Given the description of an element on the screen output the (x, y) to click on. 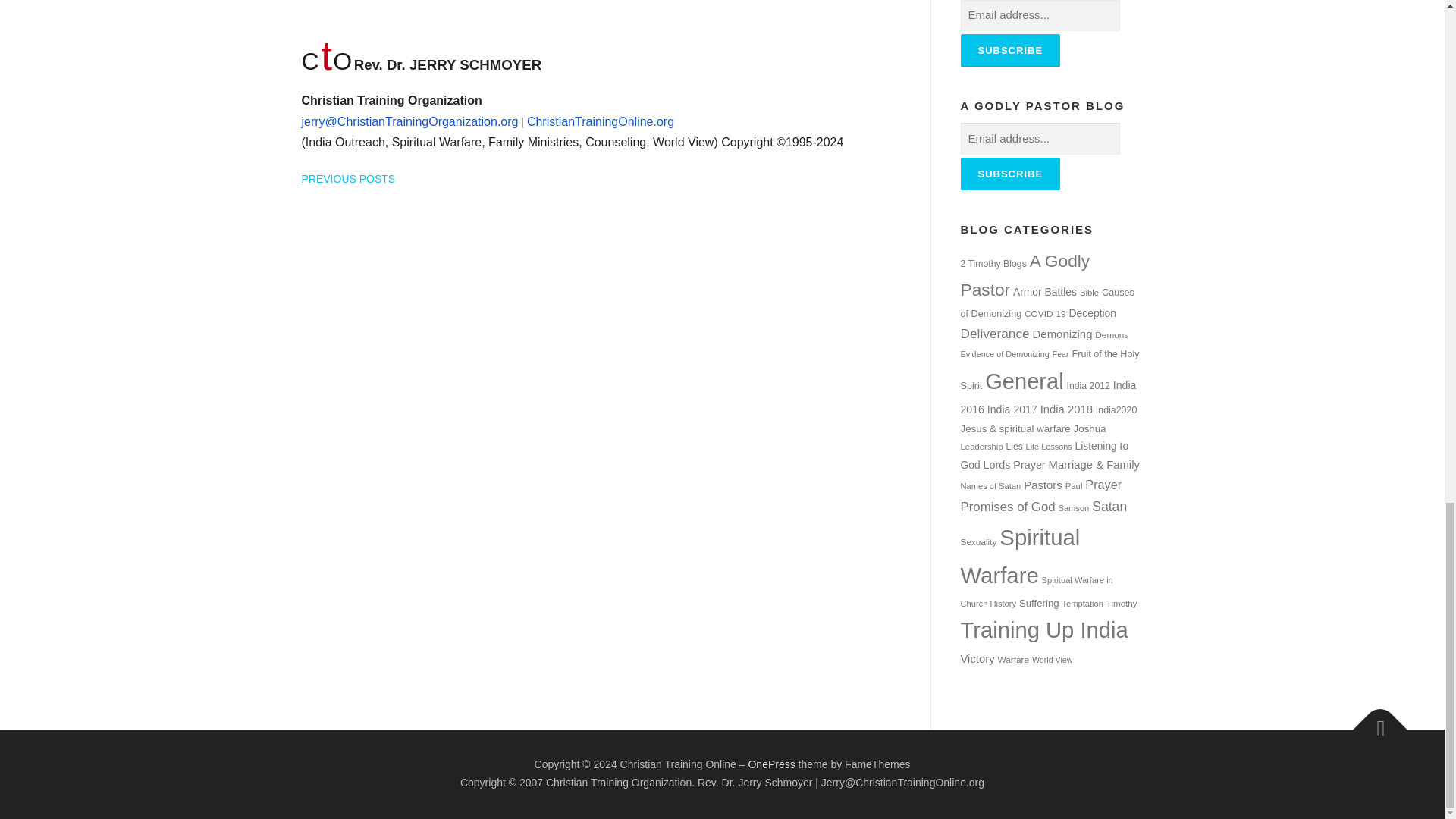
Subscribe (1009, 50)
Back To Top (1372, 721)
ChristianTrainingOnline.org (599, 121)
PREVIOUS POSTS (348, 178)
Subscribe (1009, 174)
